Given the description of an element on the screen output the (x, y) to click on. 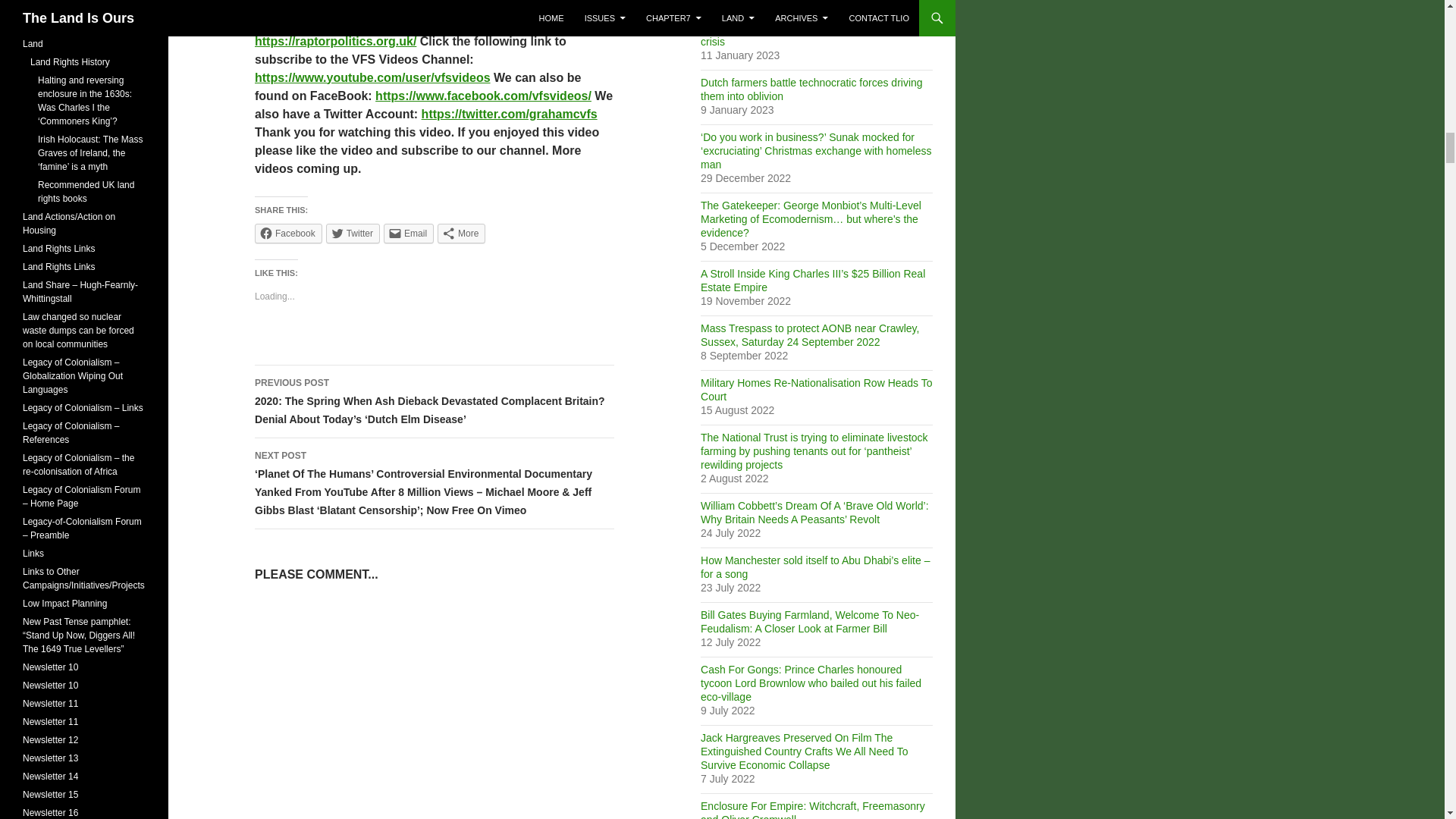
Click to email this to a friend (408, 233)
Click to share on Facebook (287, 233)
Click to share on Twitter (353, 233)
Comment Form (434, 710)
